Given the description of an element on the screen output the (x, y) to click on. 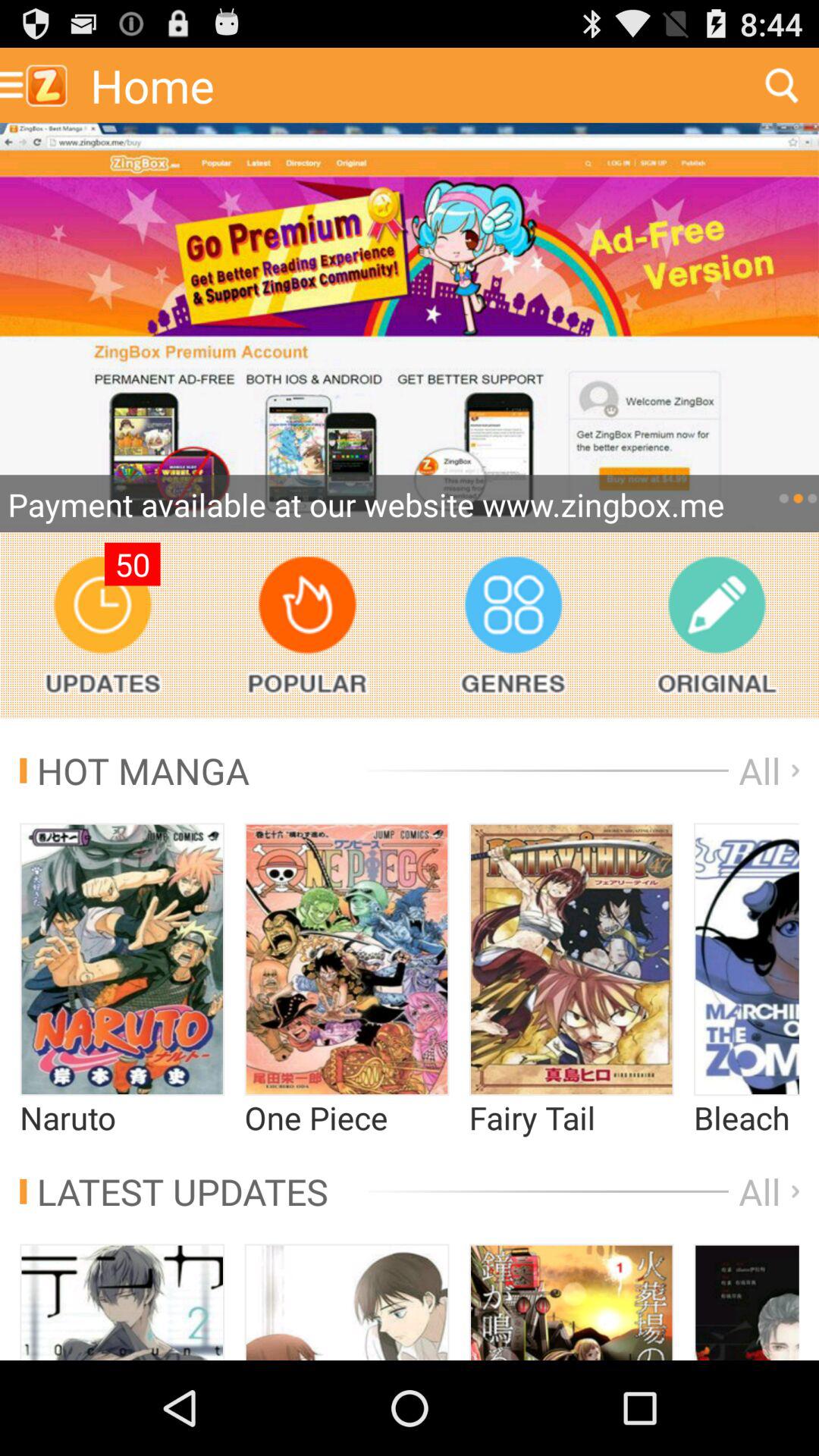
open app below the naruto app (173, 1191)
